Given the description of an element on the screen output the (x, y) to click on. 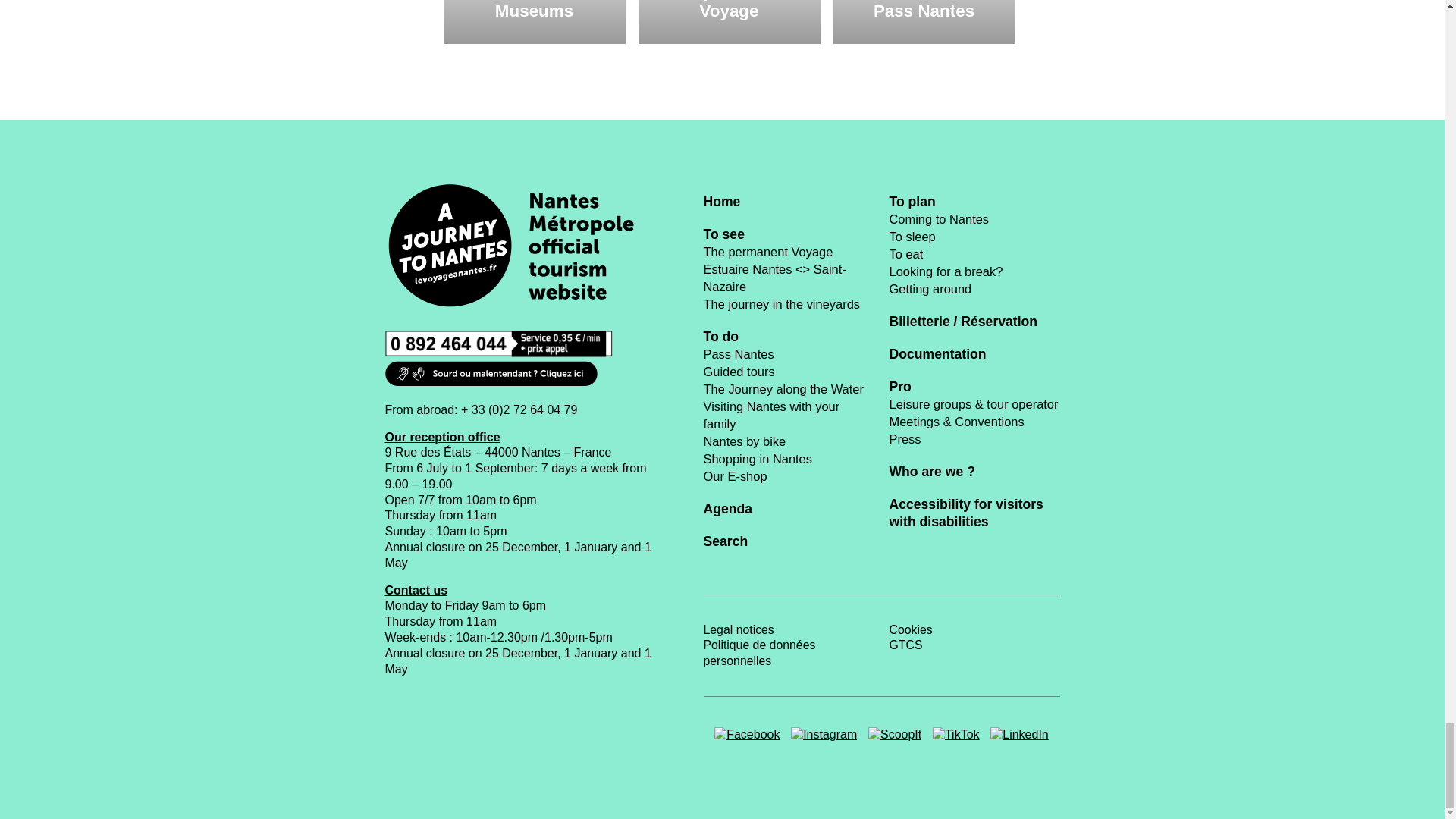
Nous suivre sur Instagram (823, 734)
Nous suivre sur ScoopIt (894, 734)
Nous suivre sur Facebook (746, 734)
Nous suivre sur LinkedIn (1019, 734)
Nous suivre sur TikTok (956, 734)
